Given the description of an element on the screen output the (x, y) to click on. 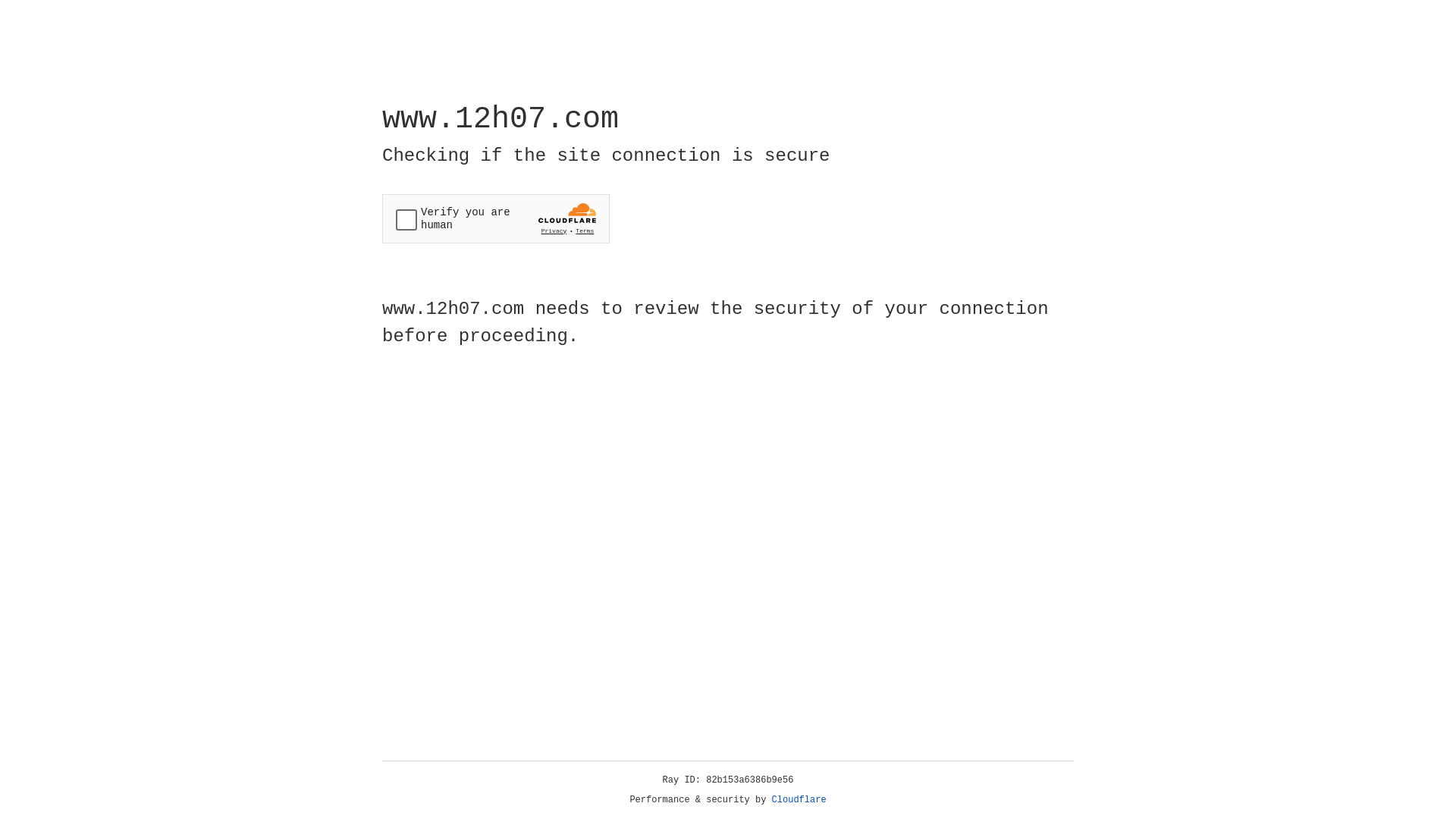
Cloudflare Element type: text (798, 799)
Widget containing a Cloudflare security challenge Element type: hover (495, 218)
